Given the description of an element on the screen output the (x, y) to click on. 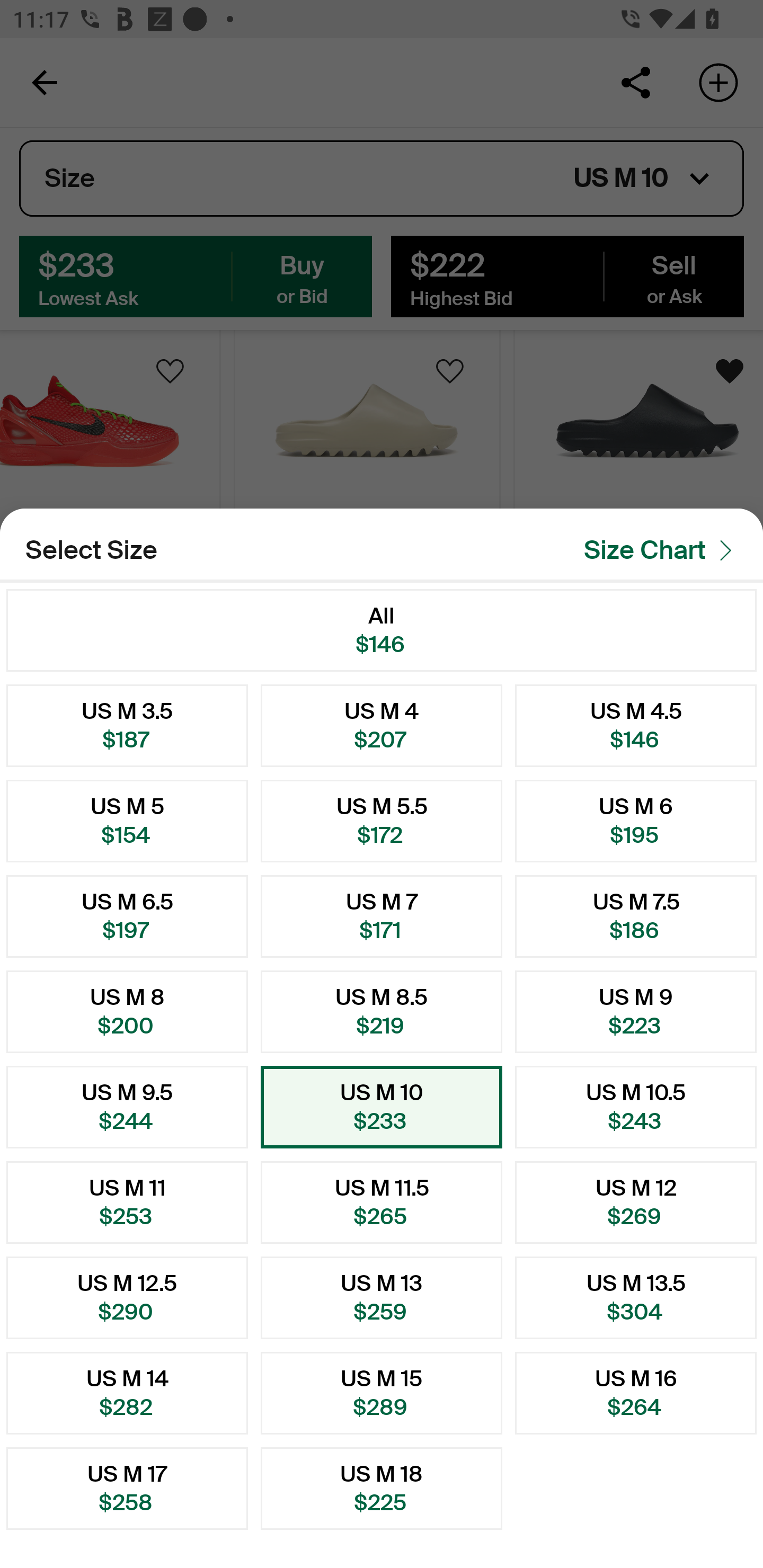
Size Chart (663, 550)
All $146 (381, 630)
US M 3.5 $187 (126, 724)
US M 4 $207 (381, 724)
US M 4.5 $146 (635, 724)
US M 5 $154 (126, 820)
US M 5.5 $172 (381, 820)
US M 6 $195 (635, 820)
US M 6.5 $197 (126, 916)
US M 7 $171 (381, 916)
US M 7.5 $186 (635, 916)
US M 8 $200 (126, 1011)
US M 8.5 $219 (381, 1011)
US M 9 $223 (635, 1011)
US M 9.5 $244 (126, 1106)
US M 10 $233 (381, 1106)
US M 10.5 $243 (635, 1106)
US M 11 $253 (126, 1202)
US M 11.5 $265 (381, 1202)
US M 12 $269 (635, 1202)
US M 12.5 $290 (126, 1297)
US M 13 $259 (381, 1297)
US M 13.5 $304 (635, 1297)
US M 14 $282 (126, 1392)
US M 15 $289 (381, 1392)
US M 16 $264 (635, 1392)
US M 17 $258 (126, 1488)
US M 18 $225 (381, 1488)
